Given the description of an element on the screen output the (x, y) to click on. 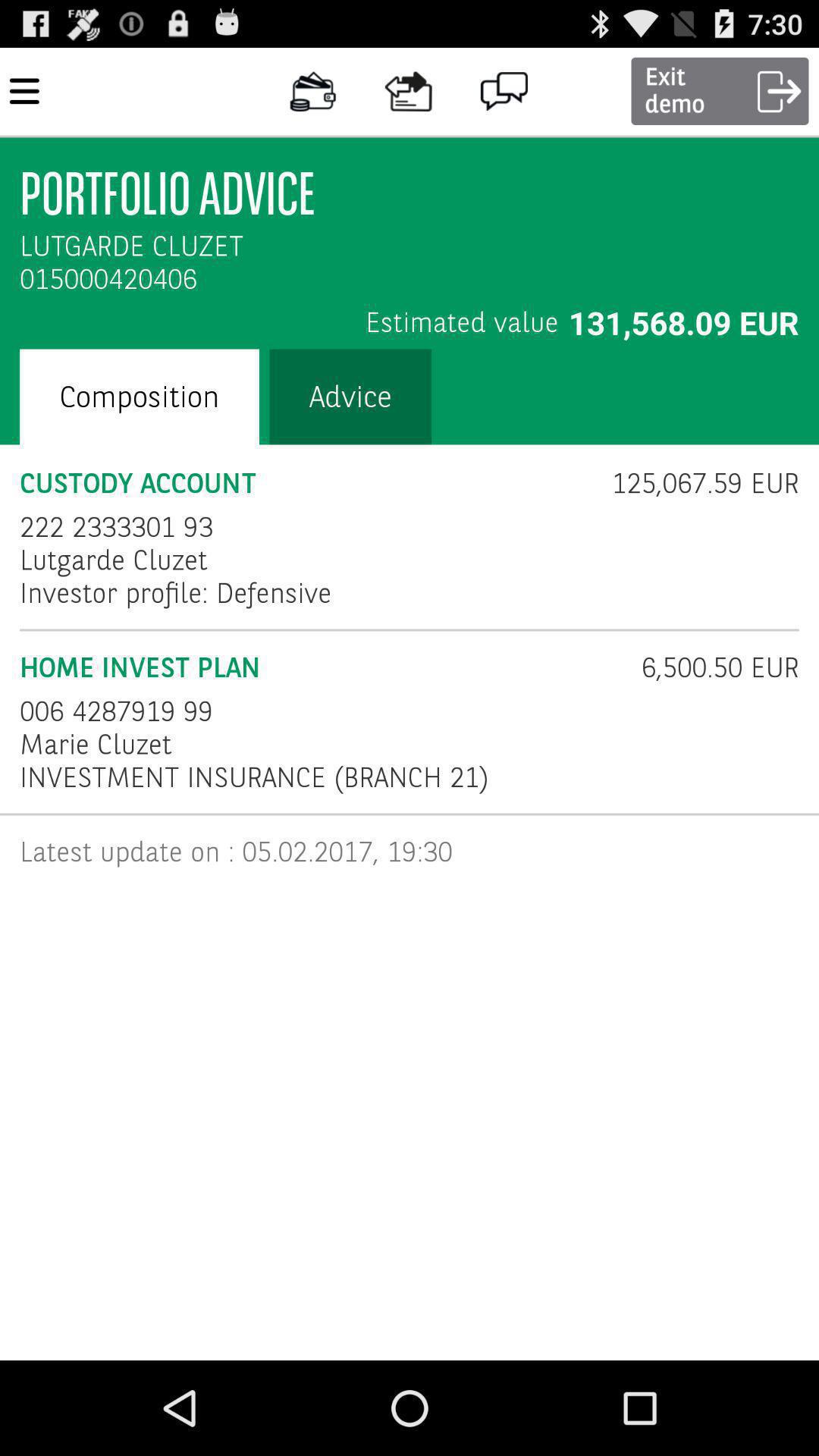
press the icon below 006 4287919 99 checkbox (95, 744)
